Given the description of an element on the screen output the (x, y) to click on. 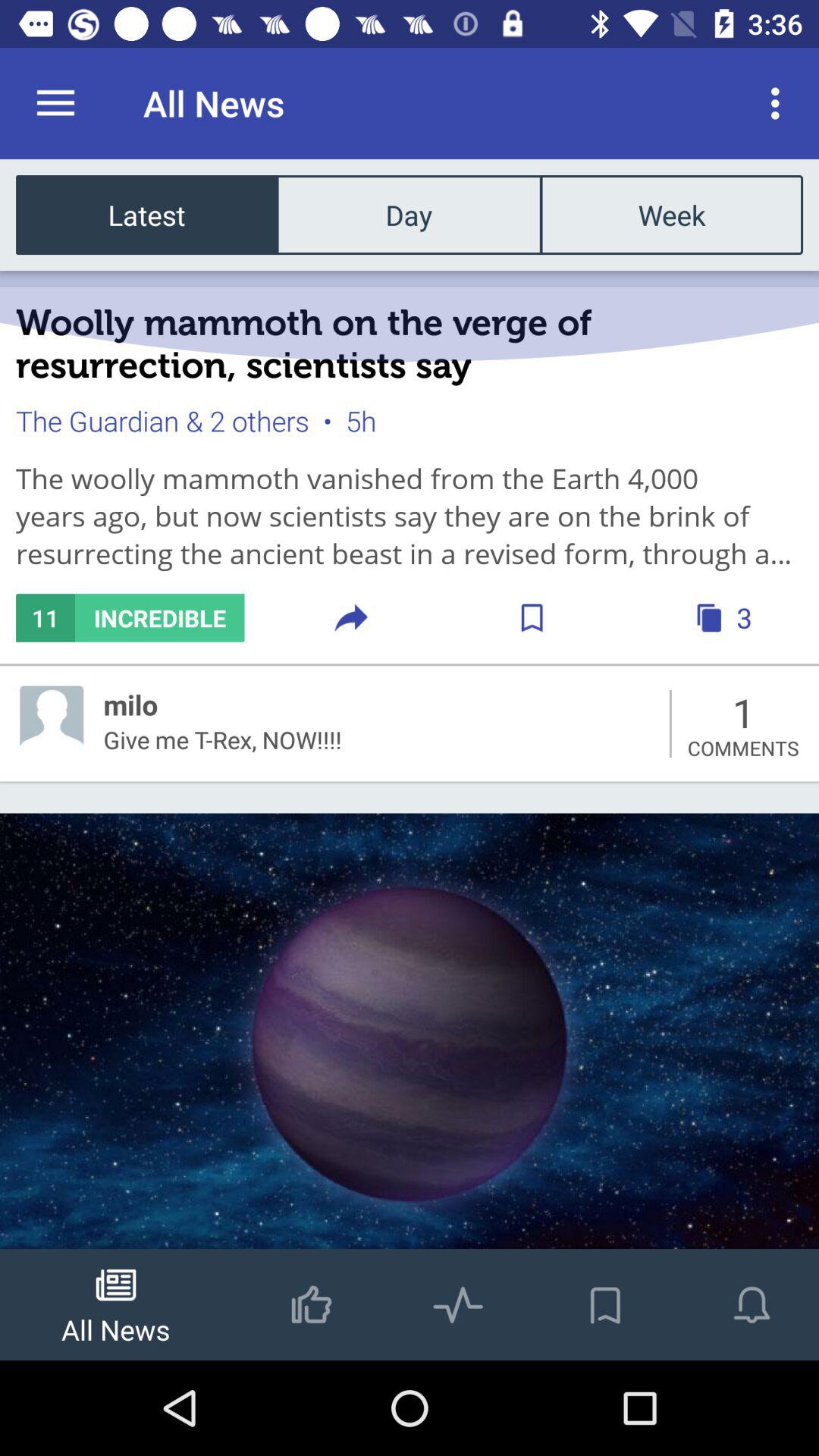
choose item above woolly mammoth on (146, 214)
